Given the description of an element on the screen output the (x, y) to click on. 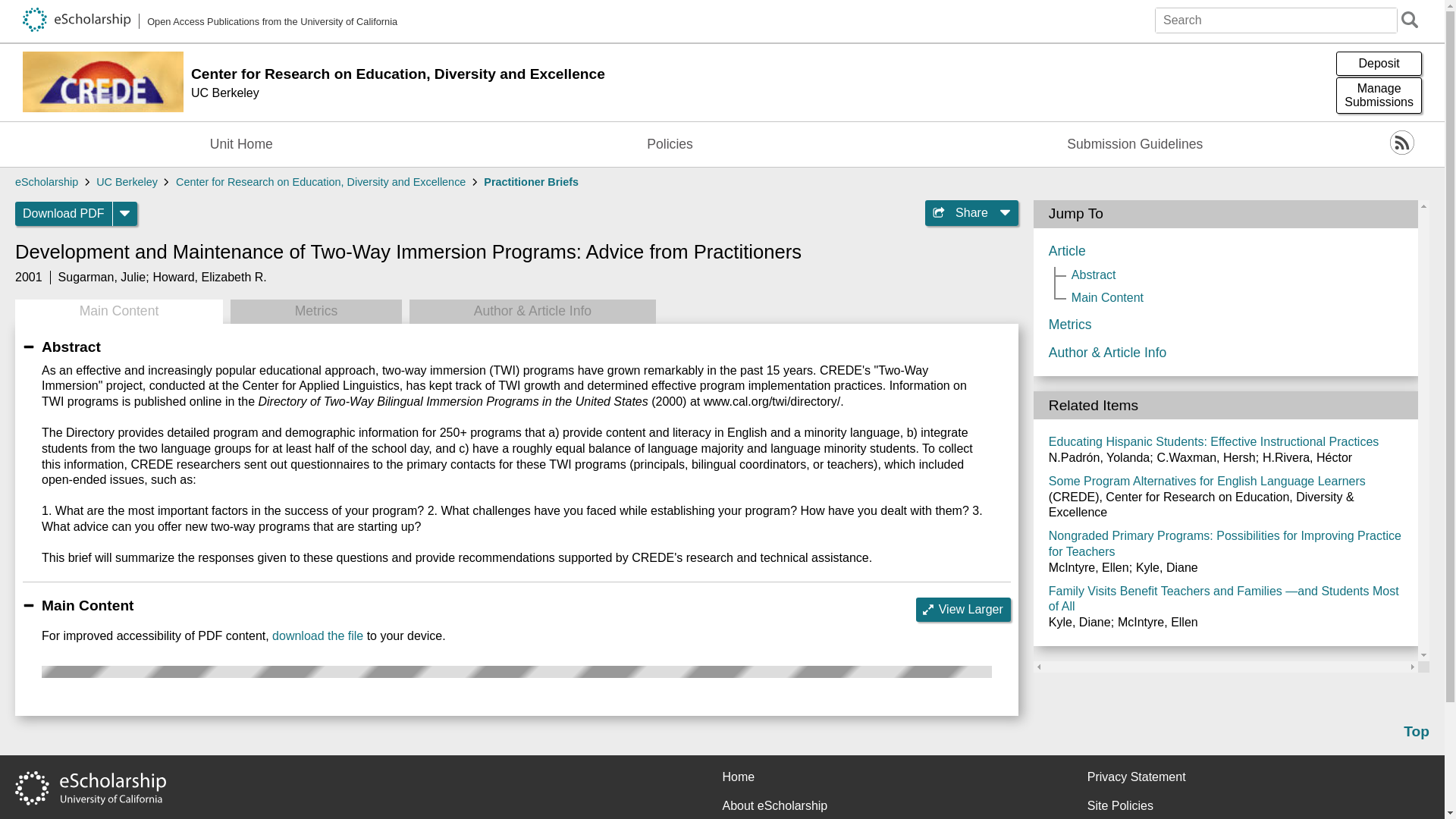
Center for Research on Education, Diversity and Excellence (320, 182)
UC Berkeley (758, 100)
Download PDF (63, 213)
Policies (669, 143)
Submission Guidelines (1134, 143)
Metrics (315, 311)
View Larger (962, 609)
Sugarman, Julie (102, 277)
download the file (1379, 94)
Deposit (317, 635)
Open Access Publications from the University of California (1379, 63)
UC Berkeley (210, 21)
Practitioner Briefs (126, 182)
Unit Home (530, 182)
